Given the description of an element on the screen output the (x, y) to click on. 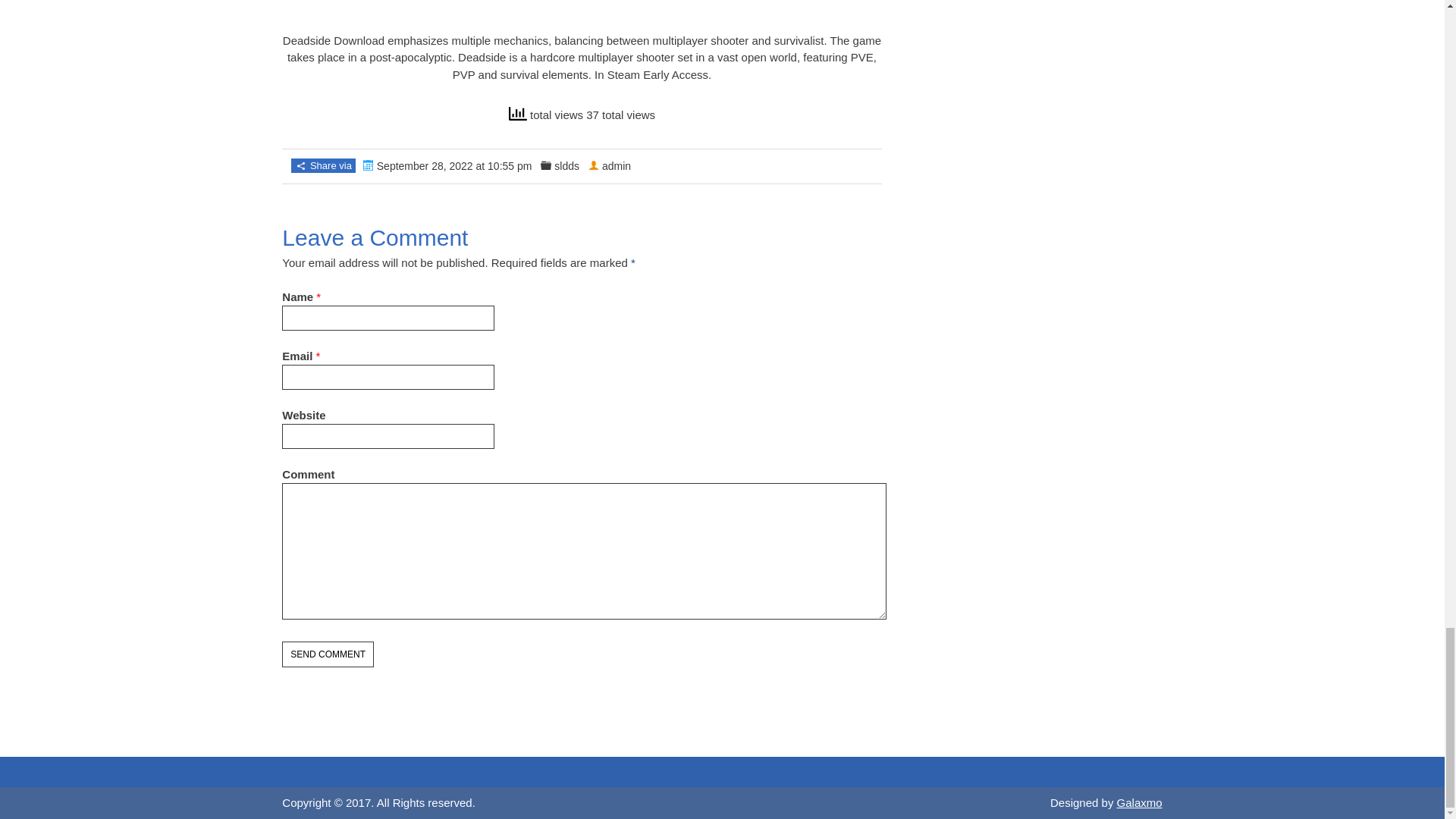
Galaxmo (1138, 801)
admin (616, 165)
sldds (566, 165)
Send Comment (328, 654)
Send Comment (328, 654)
